Given the description of an element on the screen output the (x, y) to click on. 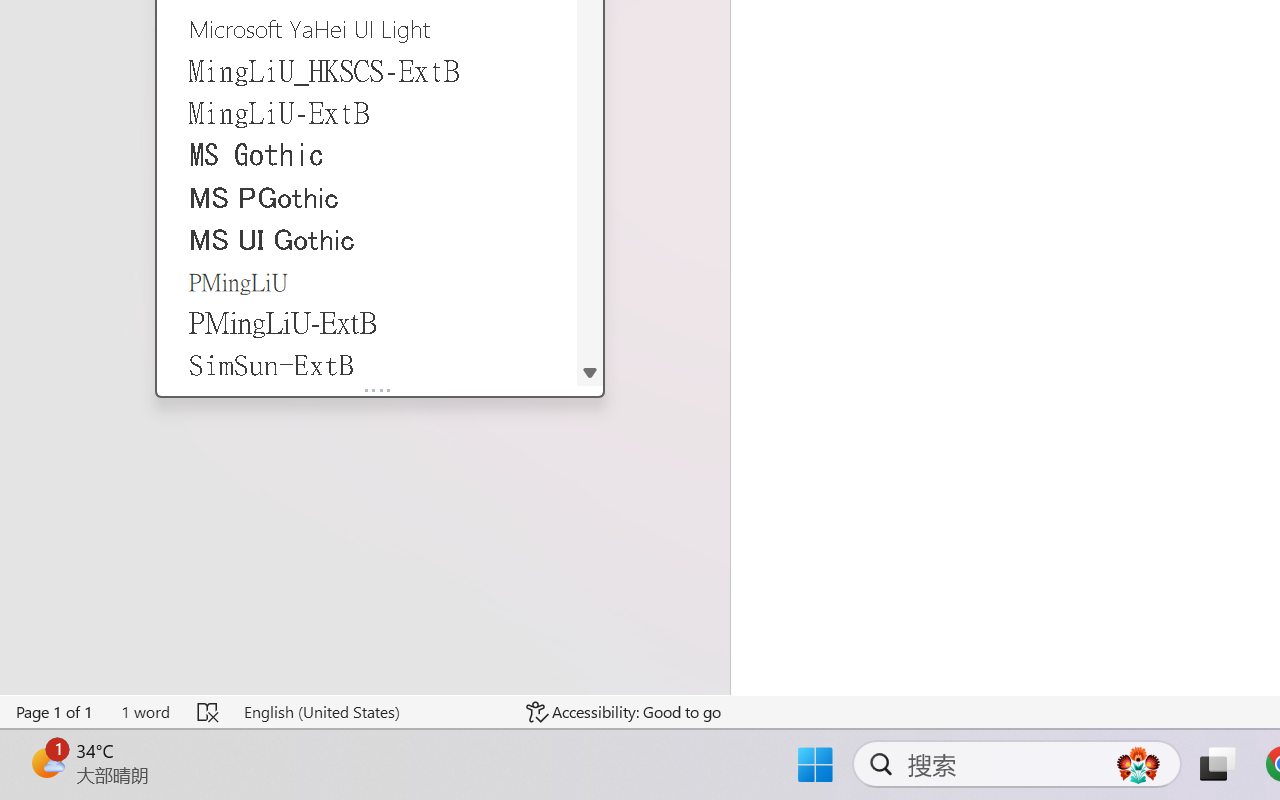
PMingLiU-ExtB (367, 323)
Microsoft YaHei UI Light (367, 28)
MS Gothic (367, 155)
MingLiU_HKSCS-ExtB (367, 70)
Line down (589, 372)
SimSun-ExtB (367, 364)
PMingLiU (367, 281)
MS UI Gothic (367, 238)
Spelling and Grammar Check Errors (208, 712)
MS PGothic (367, 196)
MingLiU-ExtB (367, 113)
